Given the description of an element on the screen output the (x, y) to click on. 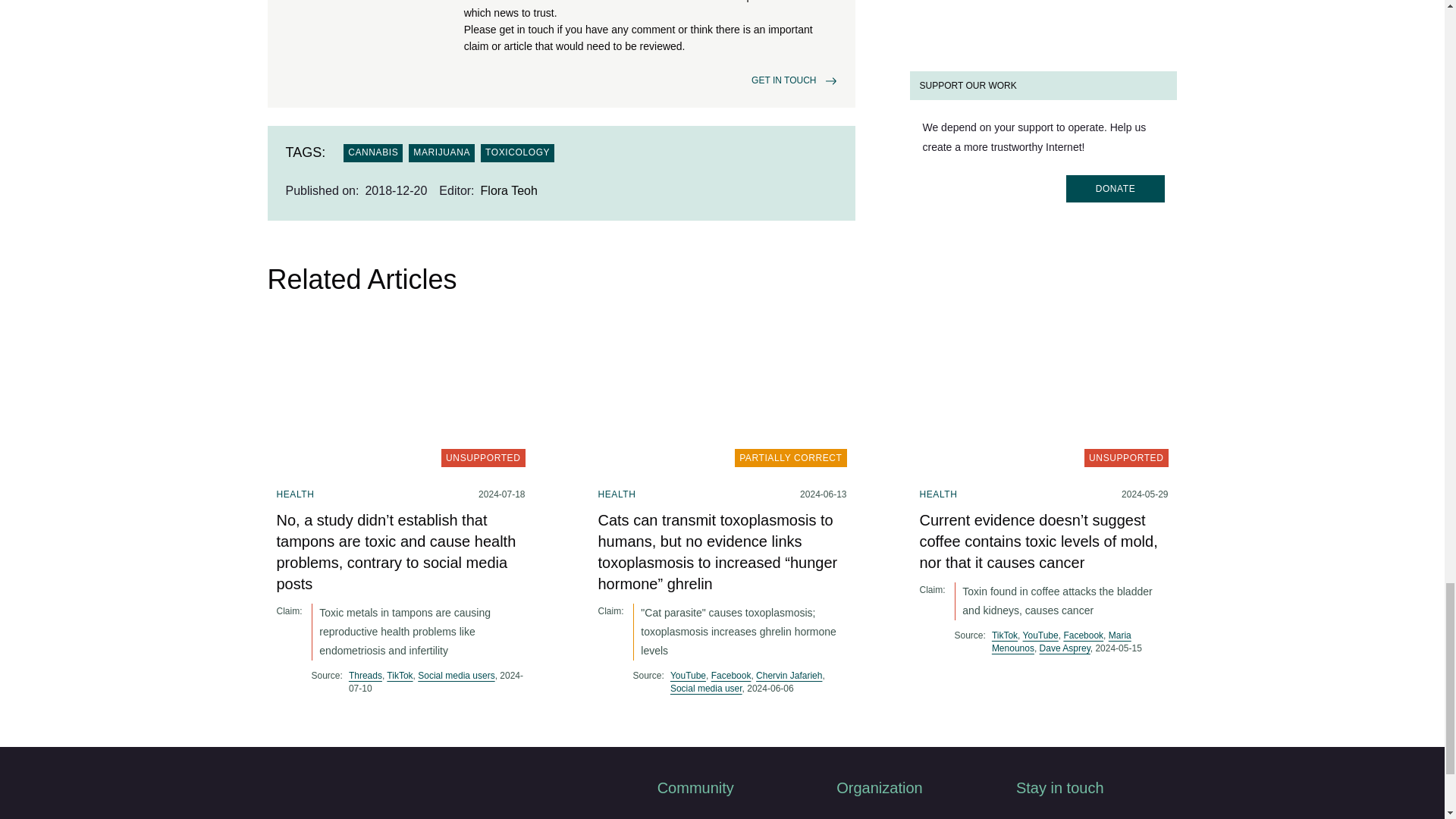
CANNABIS (373, 153)
MARIJUANA (441, 153)
GET IN TOUCH (783, 80)
IFCN signatory (317, 46)
